Given the description of an element on the screen output the (x, y) to click on. 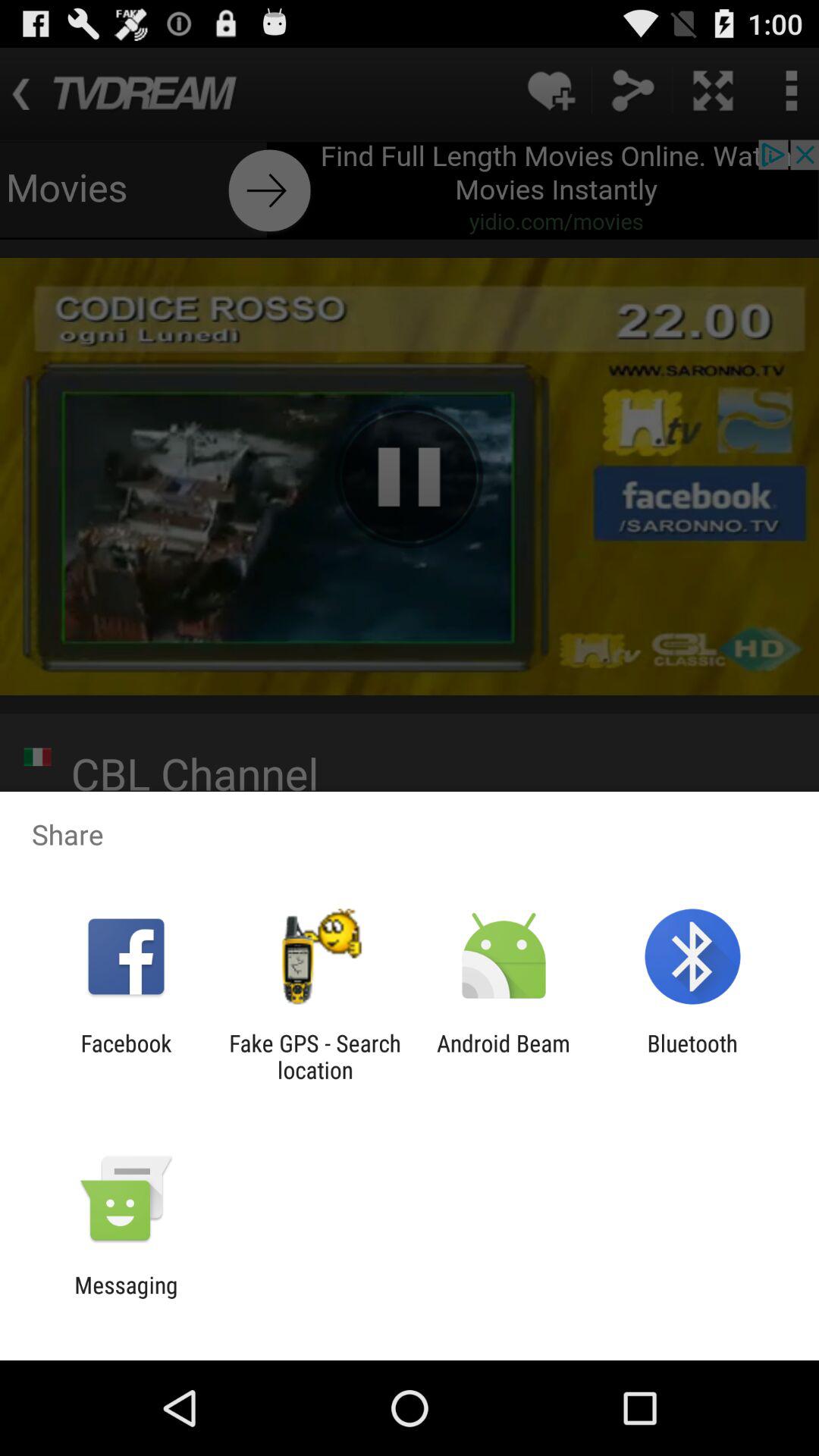
open icon to the left of fake gps search (125, 1056)
